Given the description of an element on the screen output the (x, y) to click on. 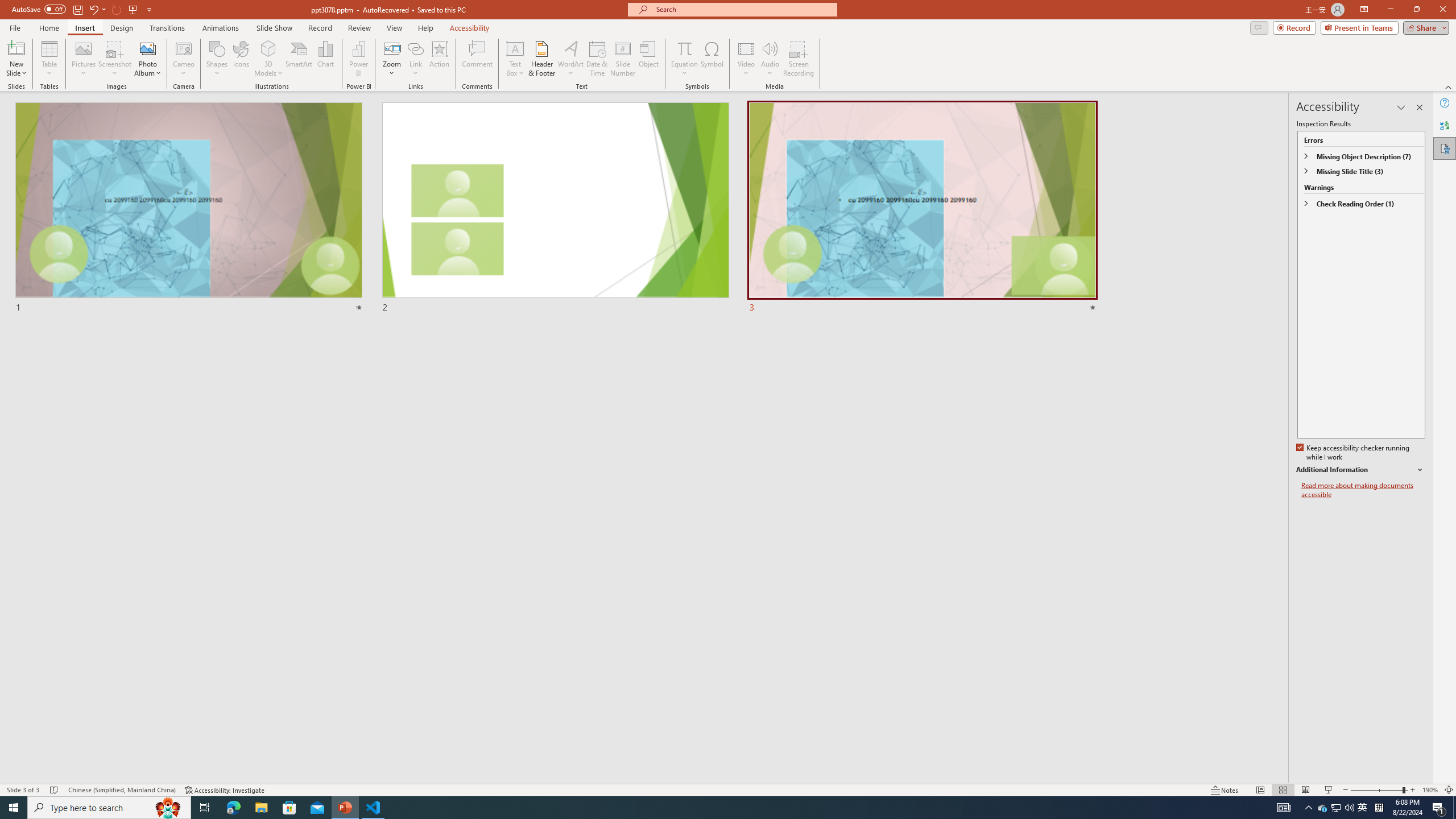
3D Models (268, 48)
Audio (769, 58)
Screenshot (114, 58)
Action (439, 58)
Date & Time... (596, 58)
Chart... (325, 58)
